Given the description of an element on the screen output the (x, y) to click on. 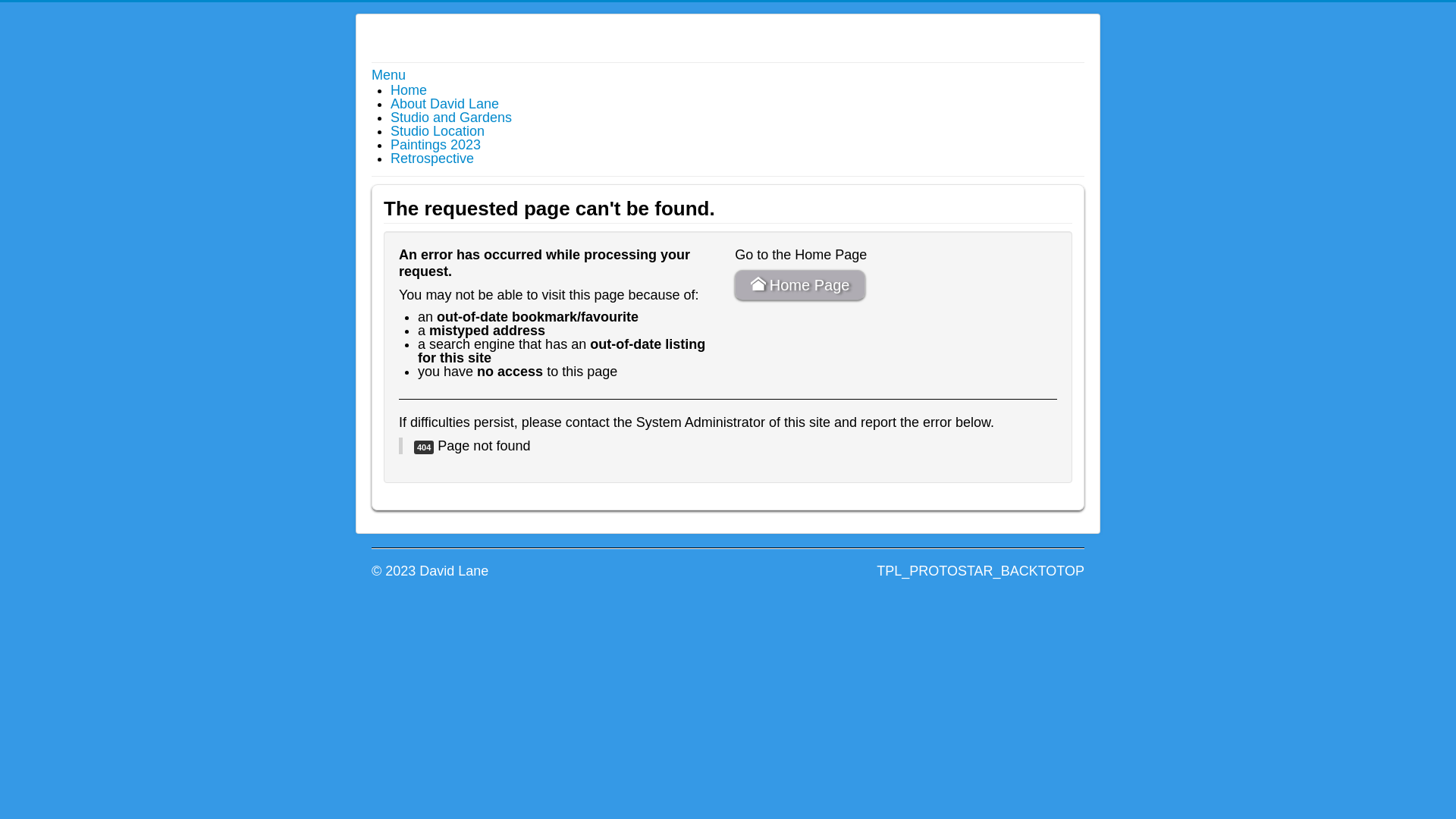
Menu Element type: text (388, 74)
Studio and Gardens Element type: text (450, 117)
Paintings 2023 Element type: text (435, 144)
Studio Location Element type: text (437, 130)
Home Element type: text (408, 89)
David Lane Element type: text (449, 32)
Retrospective Element type: text (431, 158)
About David Lane Element type: text (444, 103)
Home Page Element type: text (799, 284)
TPL_PROTOSTAR_BACKTOTOP Element type: text (980, 570)
